Given the description of an element on the screen output the (x, y) to click on. 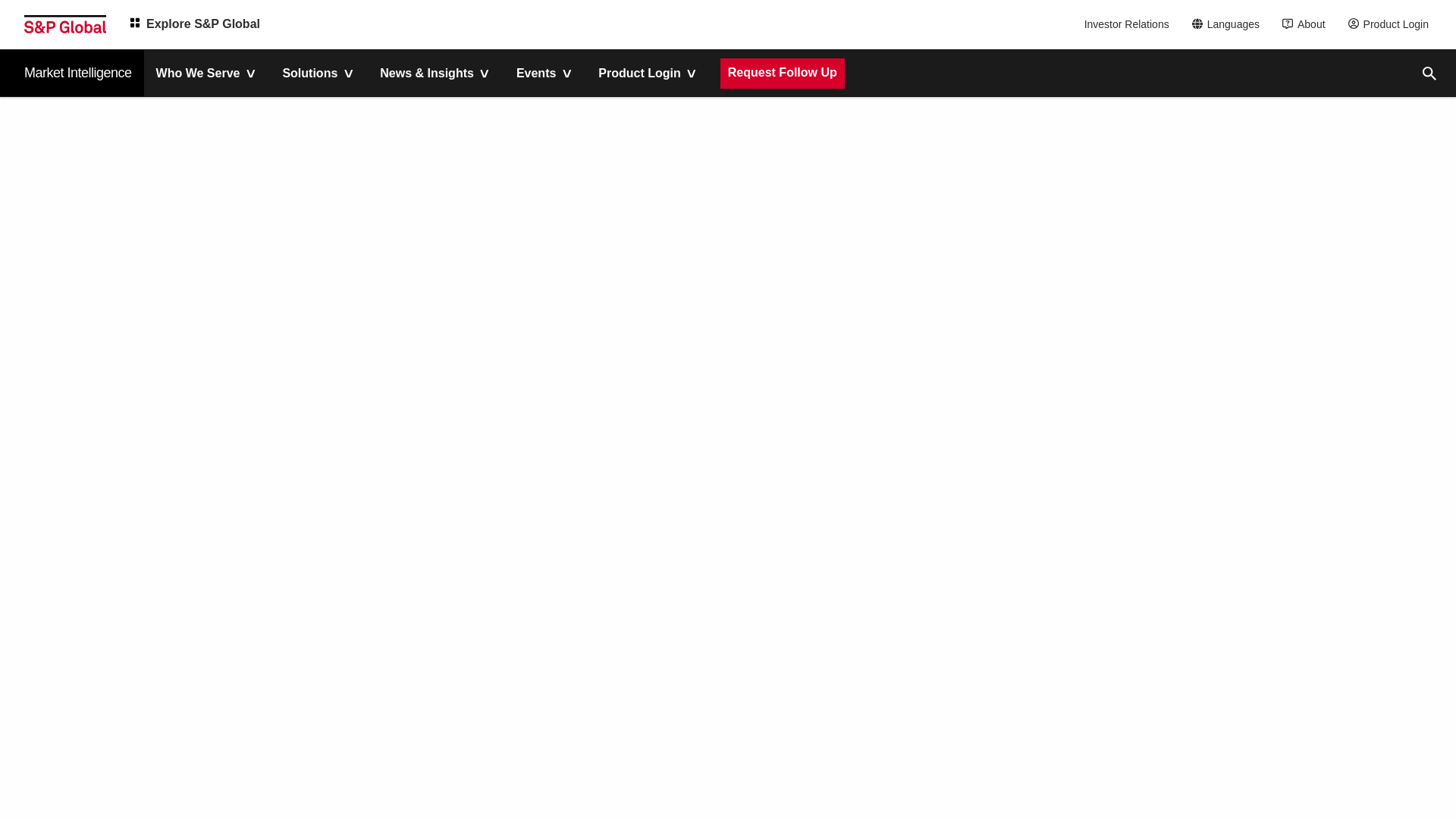
About (1307, 24)
Investor Relations (1129, 24)
Languages (1230, 24)
Product Login (1392, 24)
